Given the description of an element on the screen output the (x, y) to click on. 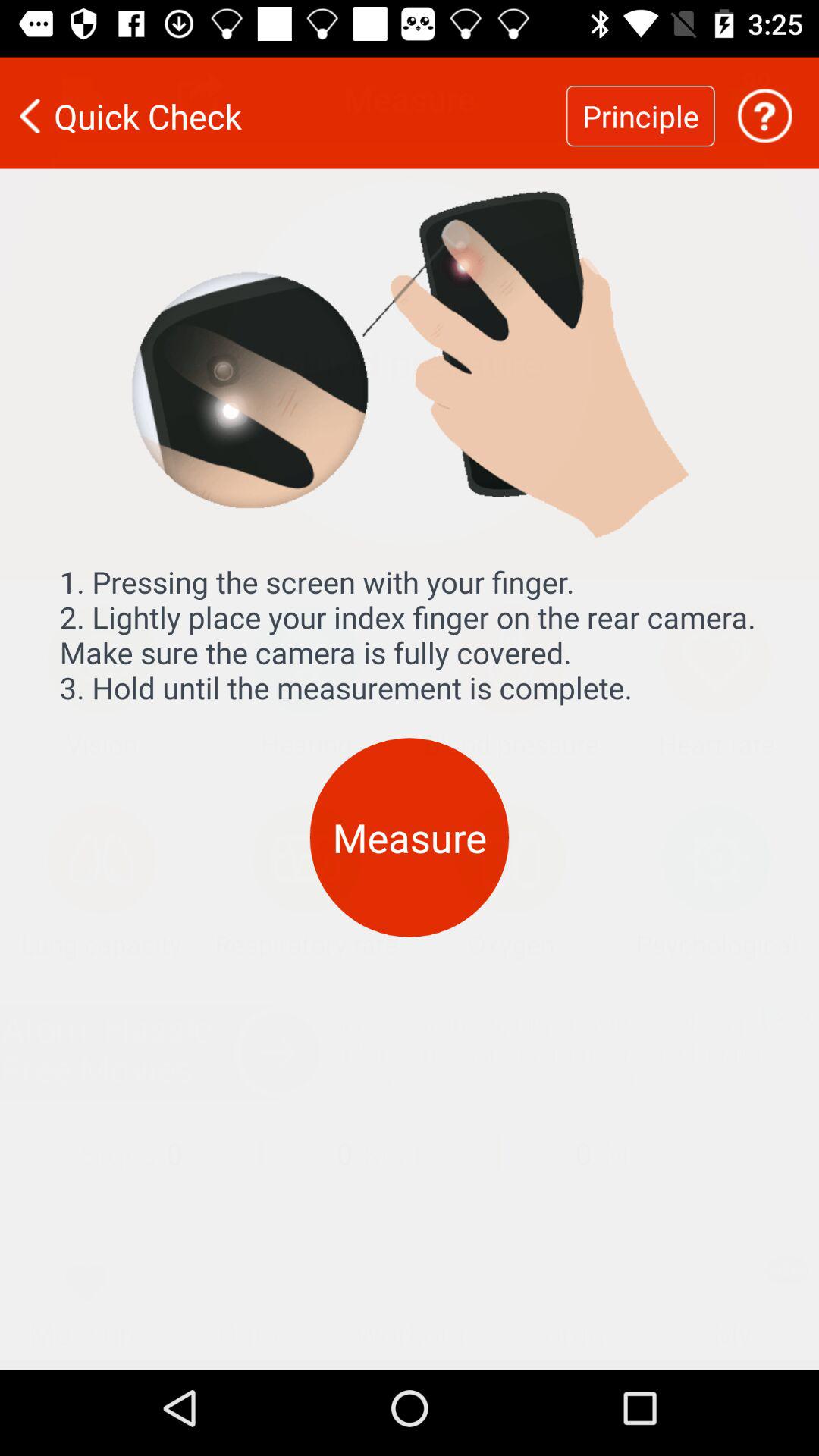
open item below the 1 pressing the (409, 827)
